Given the description of an element on the screen output the (x, y) to click on. 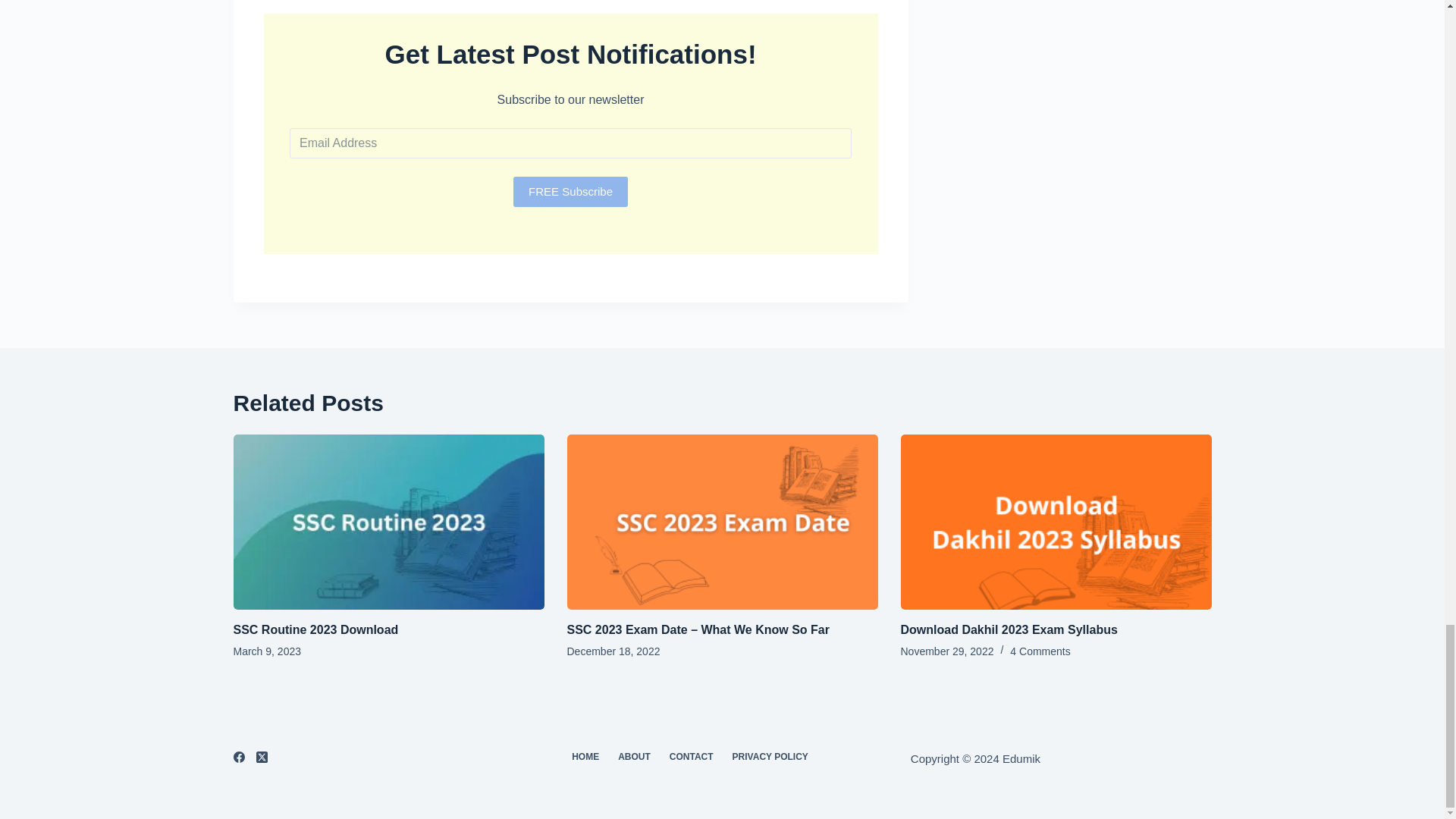
FREE Subscribe (570, 191)
